Given the description of an element on the screen output the (x, y) to click on. 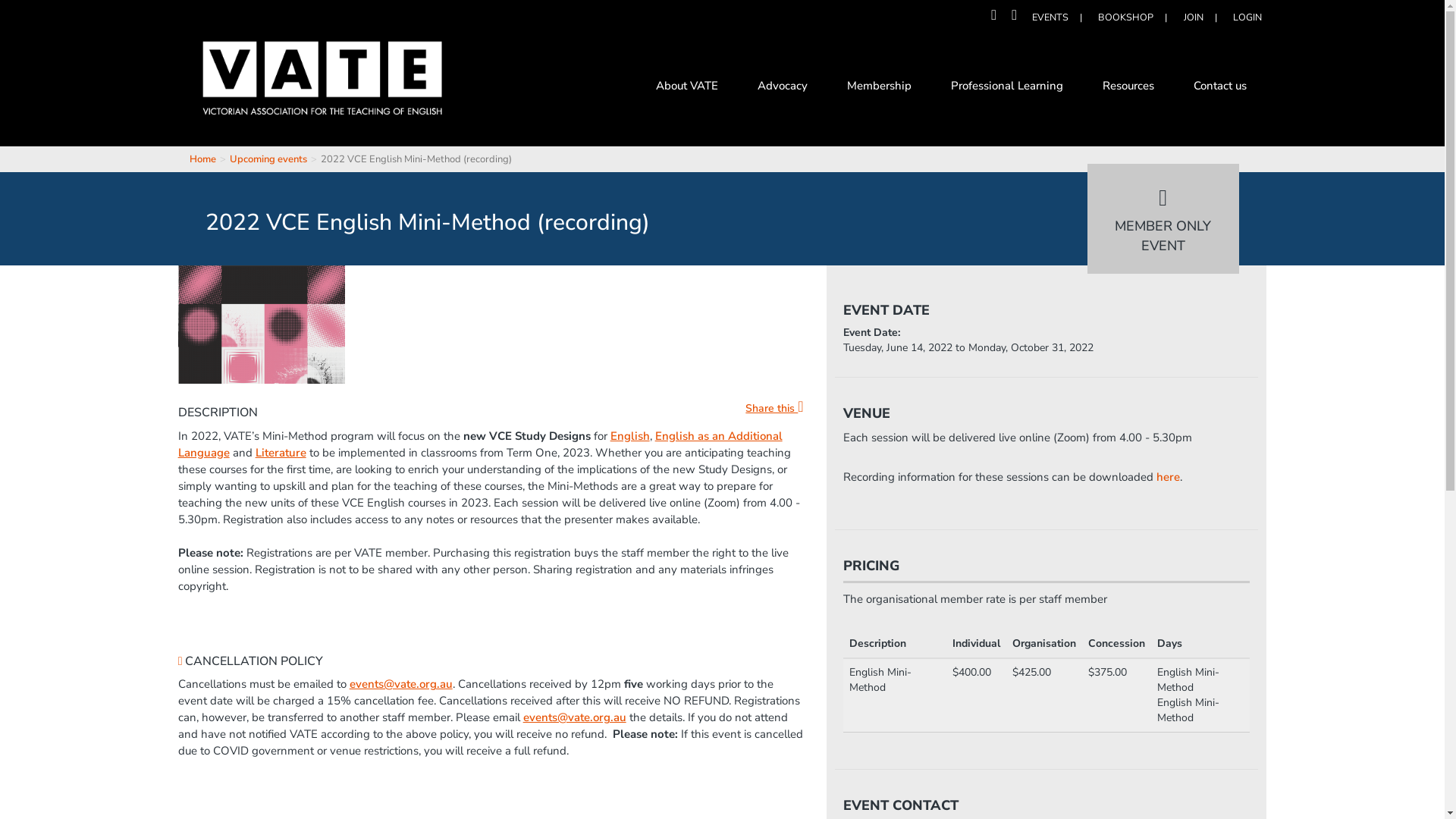
Literature Element type: text (280, 452)
LOGIN Element type: text (1247, 17)
About VATE Element type: text (686, 87)
EVENTS Element type: text (1049, 17)
English Element type: text (629, 435)
here Element type: text (1167, 476)
BOOKSHOP Element type: text (1125, 17)
Advocacy Element type: text (782, 87)
Professional Learning Element type: text (1006, 87)
Skip to main content Element type: text (50, 0)
VATE Element type: text (321, 89)
Contact us Element type: text (1219, 87)
events@vate.org.au Element type: text (400, 683)
Home Element type: text (202, 159)
Share this Element type: text (774, 408)
JOIN Element type: text (1193, 17)
English as an Additional Language Element type: text (480, 444)
Resources Element type: text (1127, 87)
Membership Element type: text (879, 87)
Upcoming events Element type: text (268, 159)
events@vate.org.au Element type: text (574, 716)
